Given the description of an element on the screen output the (x, y) to click on. 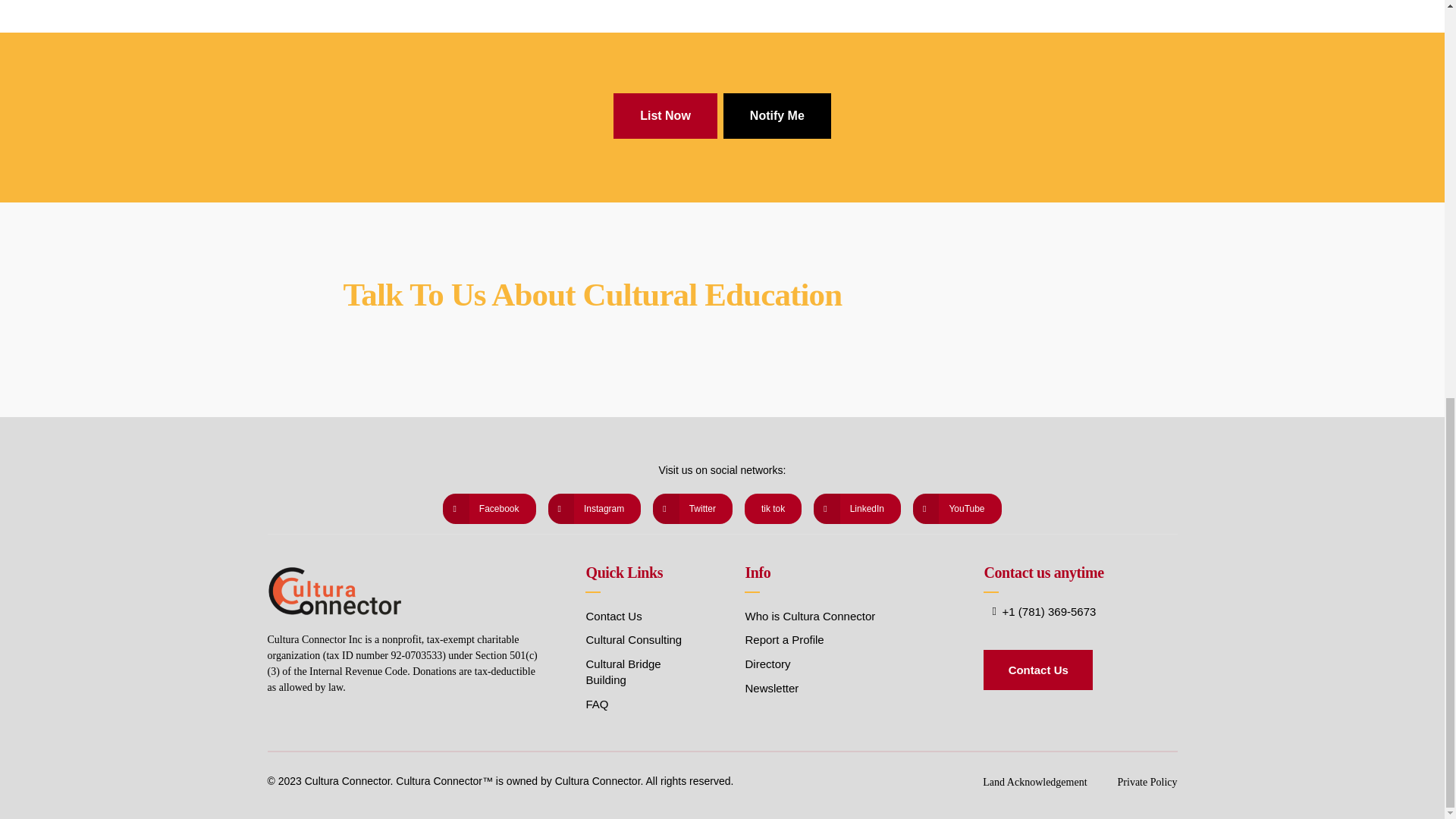
Contact Us (613, 615)
YouTube (956, 508)
Notify Me (777, 115)
tik tok (773, 508)
Facebook (488, 508)
Instagram (595, 508)
Twitter (692, 508)
List Now (664, 115)
Instagram (595, 508)
YouTube (956, 508)
List Now (664, 115)
Private Policy (1147, 782)
LinkedIn (857, 508)
Facebook (488, 508)
Contact Us (1038, 670)
